Given the description of an element on the screen output the (x, y) to click on. 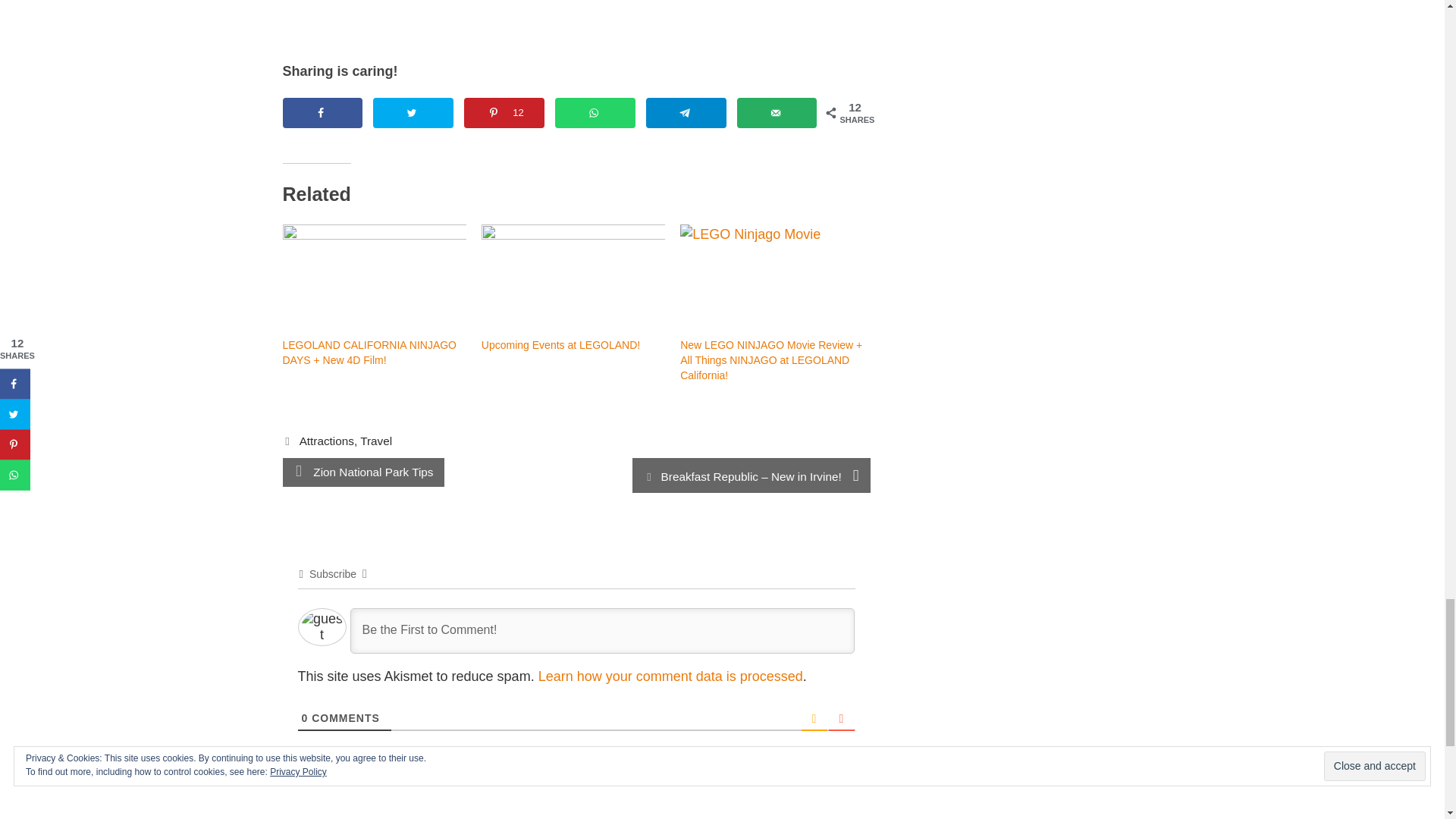
Upcoming Events at LEGOLAND! (573, 276)
Attractions (326, 440)
Share on Facebook (322, 112)
Share on WhatsApp (594, 112)
Zion National Park Tips (372, 472)
12 (504, 112)
Upcoming Events at LEGOLAND! (560, 345)
Share on Telegram (686, 112)
New LEGO Movie World Coming to LEGOLAND! (575, 20)
Share on Twitter (412, 112)
Travel (375, 440)
Send over email (776, 112)
Save to Pinterest (504, 112)
